Given the description of an element on the screen output the (x, y) to click on. 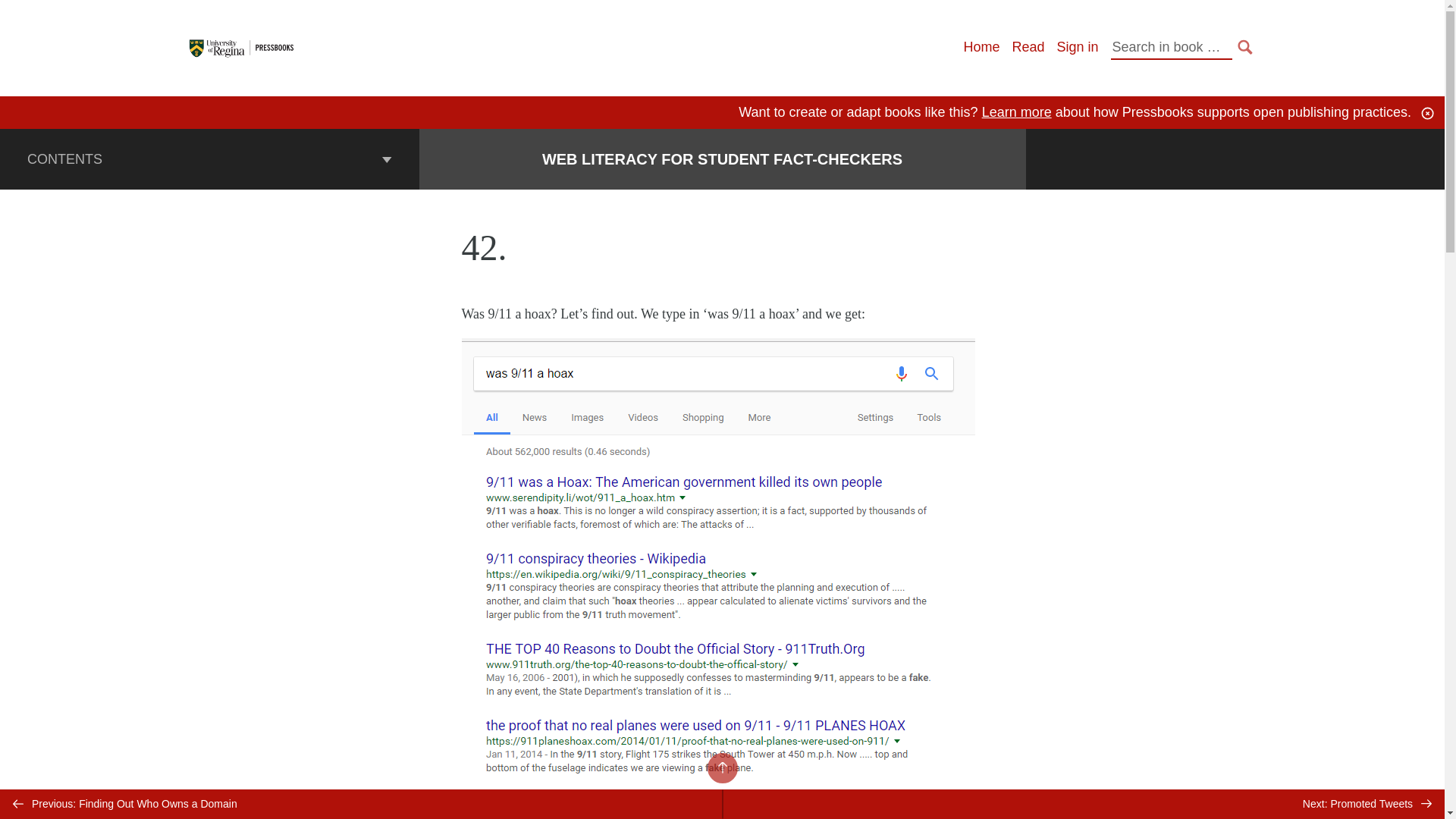
Previous: Finding Out Who Owns a Domain (361, 804)
Read (1027, 46)
BACK TO TOP (721, 767)
SEARCH (1244, 47)
Home (980, 46)
Previous: Finding Out Who Owns a Domain (361, 804)
CONTENTS (209, 158)
Learn more (1016, 111)
Sign in (1077, 46)
WEB LITERACY FOR STUDENT FACT-CHECKERS (721, 159)
